Given the description of an element on the screen output the (x, y) to click on. 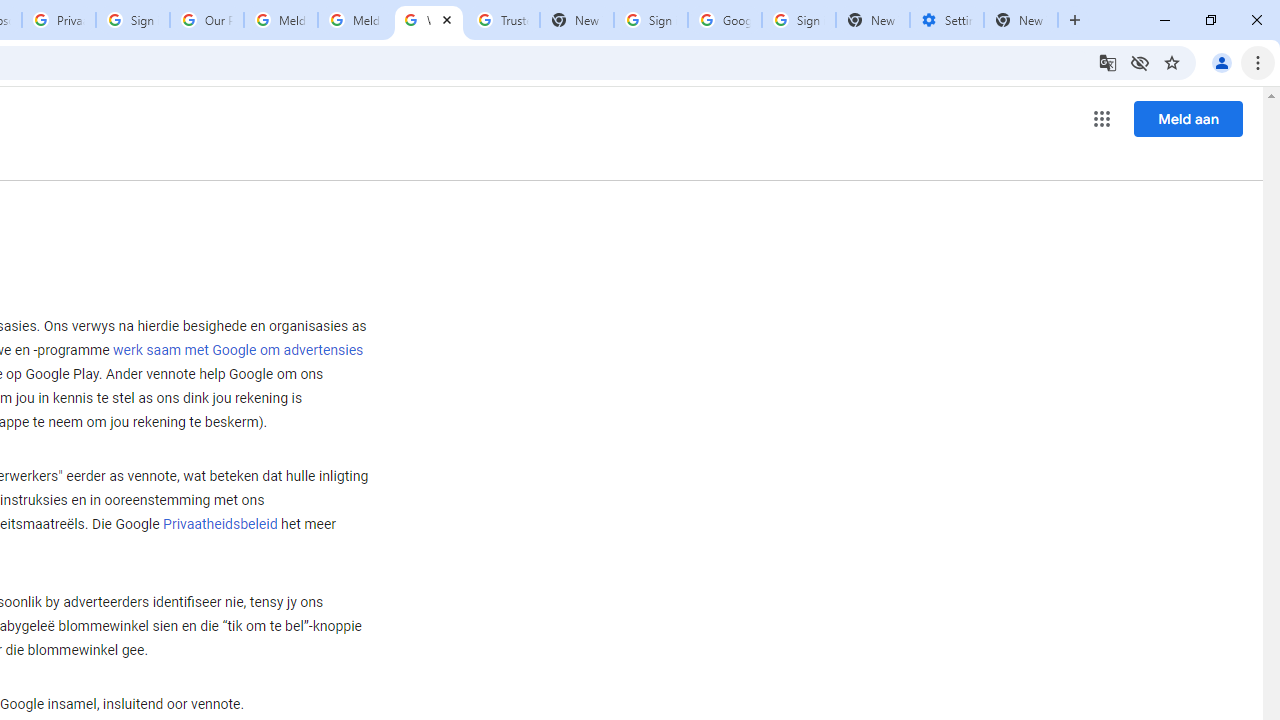
Sign in - Google Accounts (798, 20)
Meld aan (1188, 118)
Translate this page (1107, 62)
Google Cybersecurity Innovations - Google Safety Center (724, 20)
New Tab (1021, 20)
